Given the description of an element on the screen output the (x, y) to click on. 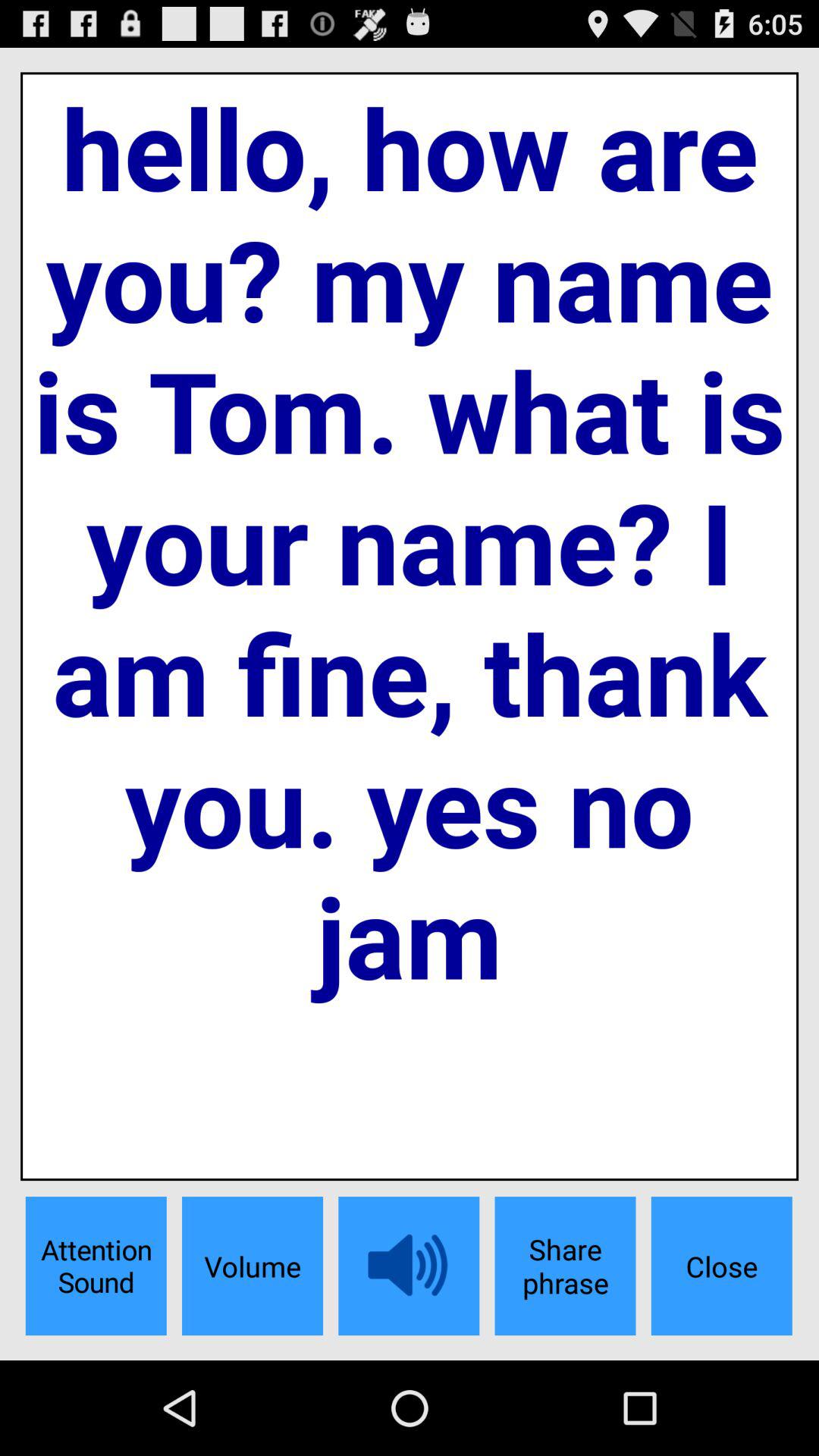
turn off icon to the left of volume button (95, 1265)
